Given the description of an element on the screen output the (x, y) to click on. 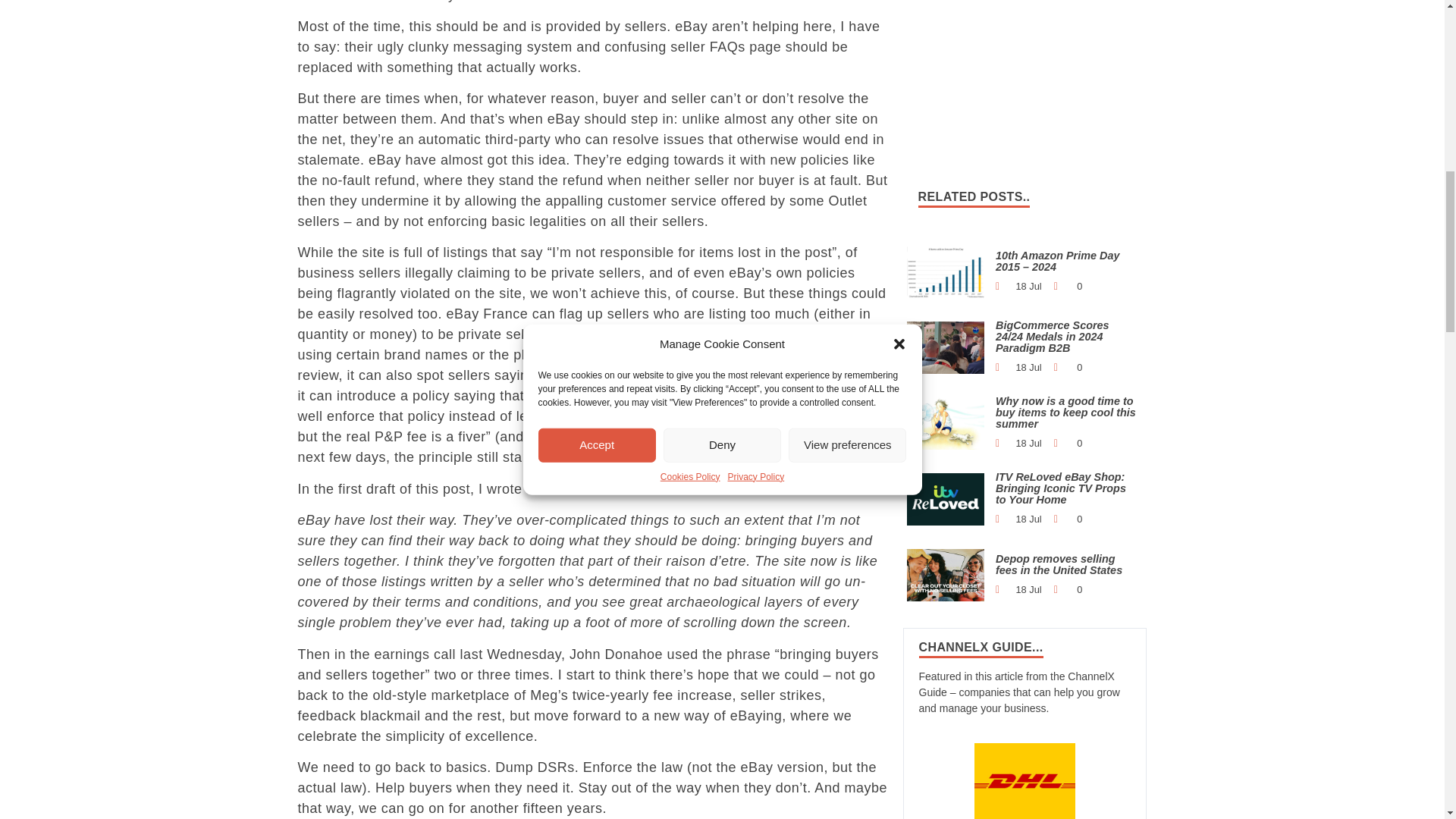
Depop removes selling fees in the United States (946, 574)
Why now is a good time to buy items to keep cool this summer (946, 422)
ITV ReLoved eBay Shop: Bringing Iconic TV Props to Your Home (946, 498)
BigCommerce Scores 24 out of 24 Medals in 2024 Paradigm B2B (946, 347)
